Given the description of an element on the screen output the (x, y) to click on. 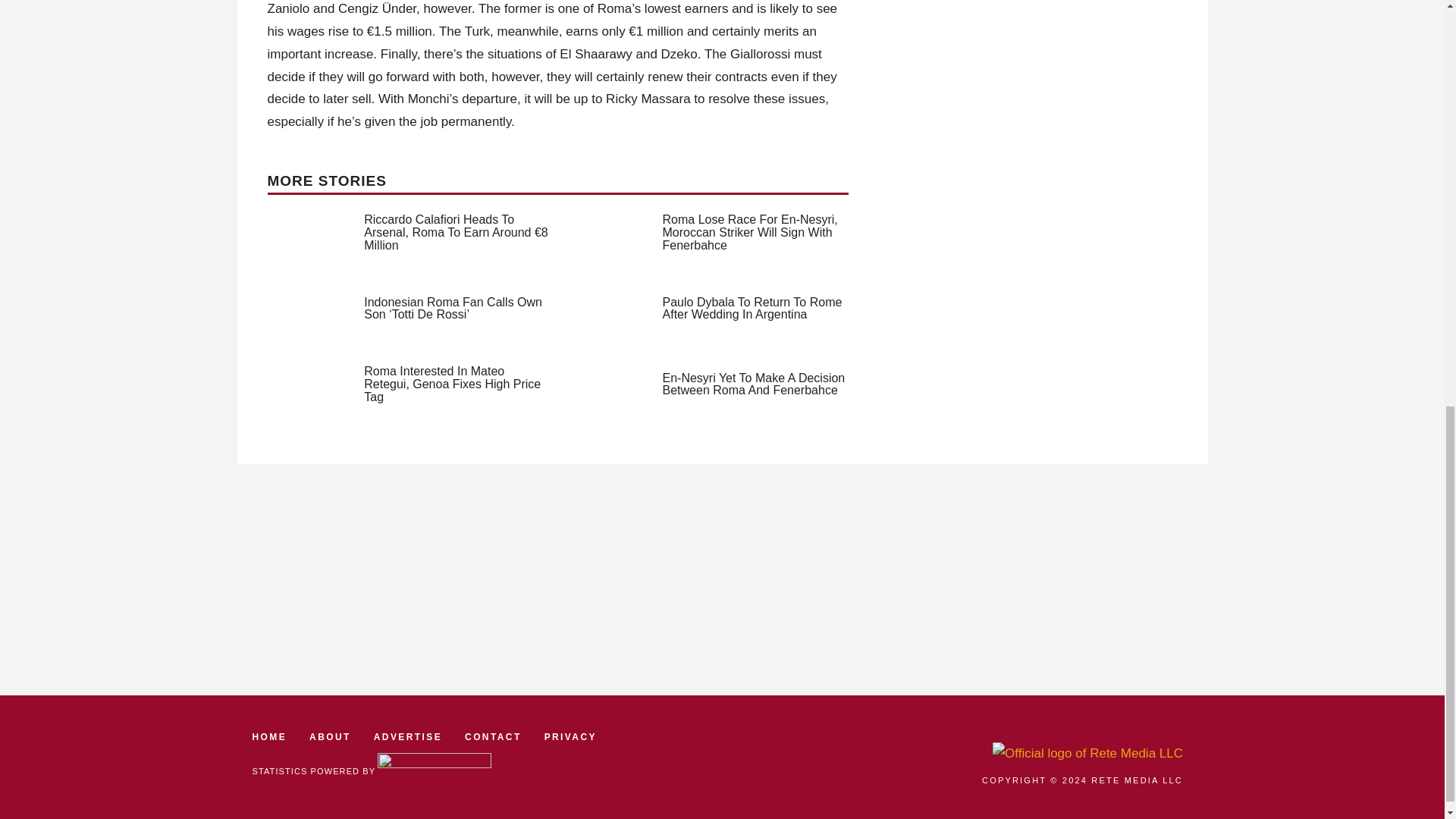
ADVERTISE (408, 737)
CONTACT (492, 737)
En-Nesyri Yet To Make A Decision Between Roma And Fenerbahce (753, 384)
ABOUT (329, 737)
HOME (268, 737)
Paulo Dybala To Return To Rome After Wedding In Argentina (752, 308)
Roma Interested In Mateo Retegui, Genoa Fixes High Price Tag (452, 383)
PRIVACY (570, 737)
